Given the description of an element on the screen output the (x, y) to click on. 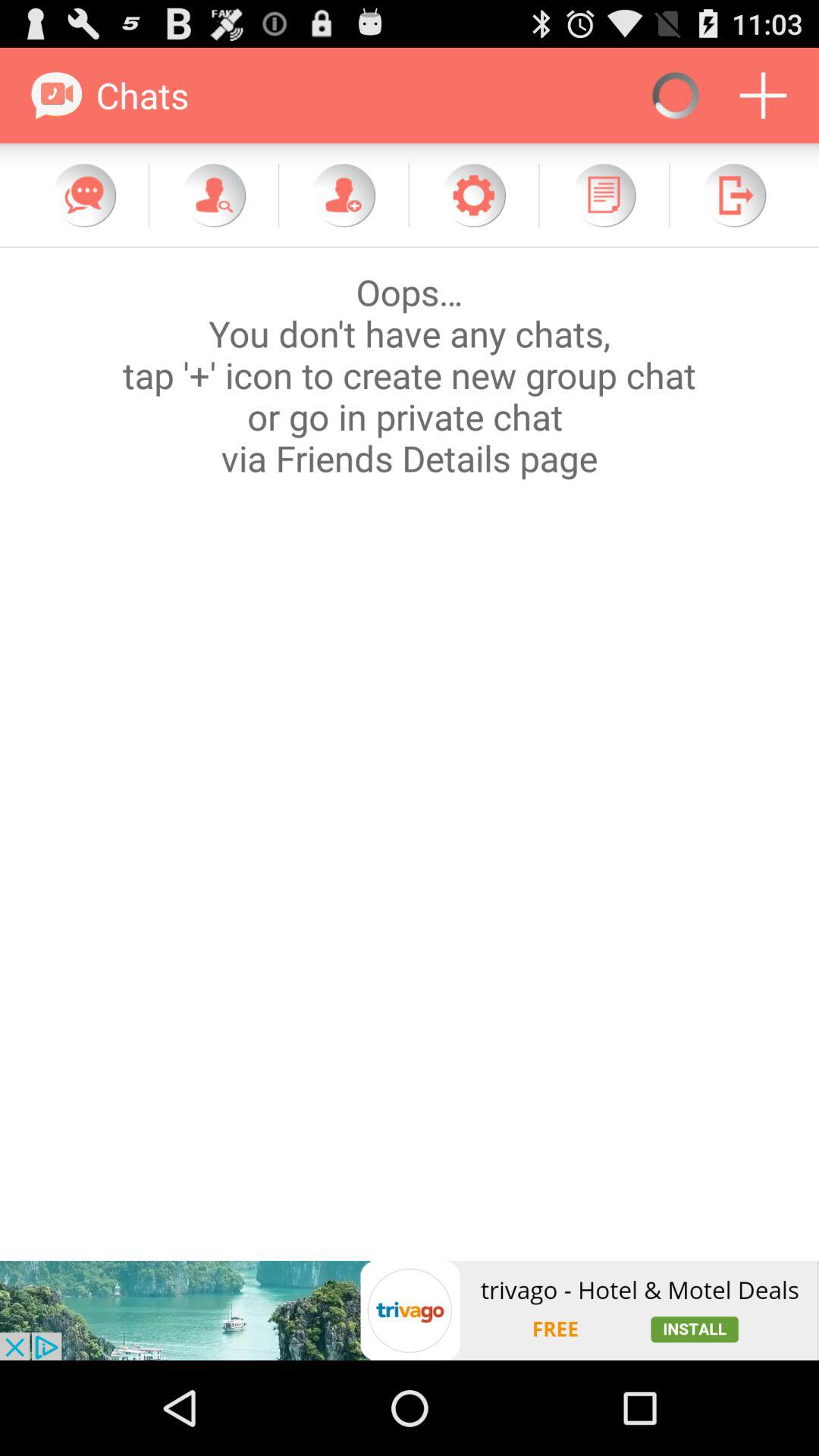
search the number in the contact list (213, 194)
